Given the description of an element on the screen output the (x, y) to click on. 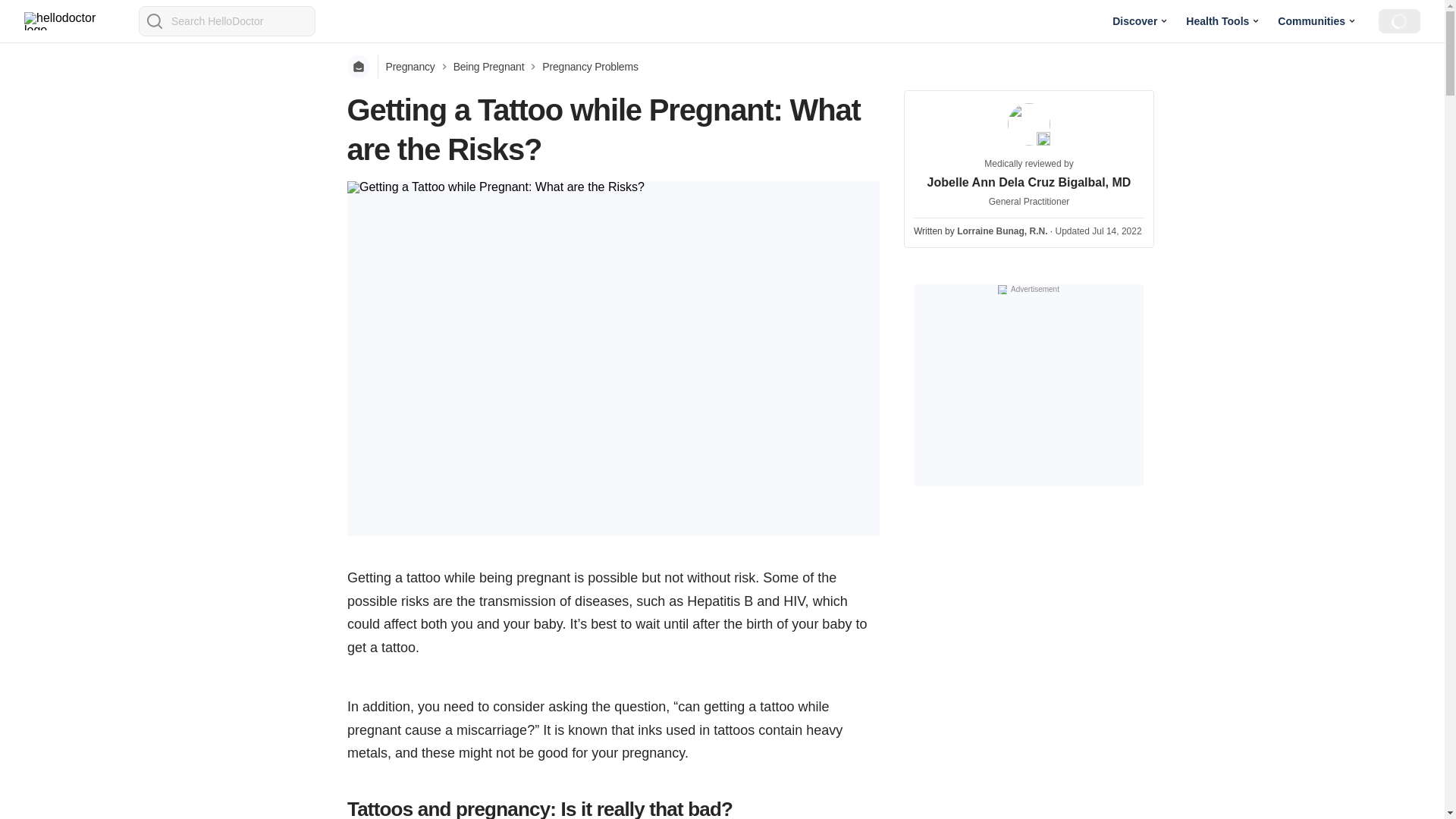
Pregnancy (409, 66)
Pregnancy Problems (589, 66)
Being Pregnant (488, 66)
